Given the description of an element on the screen output the (x, y) to click on. 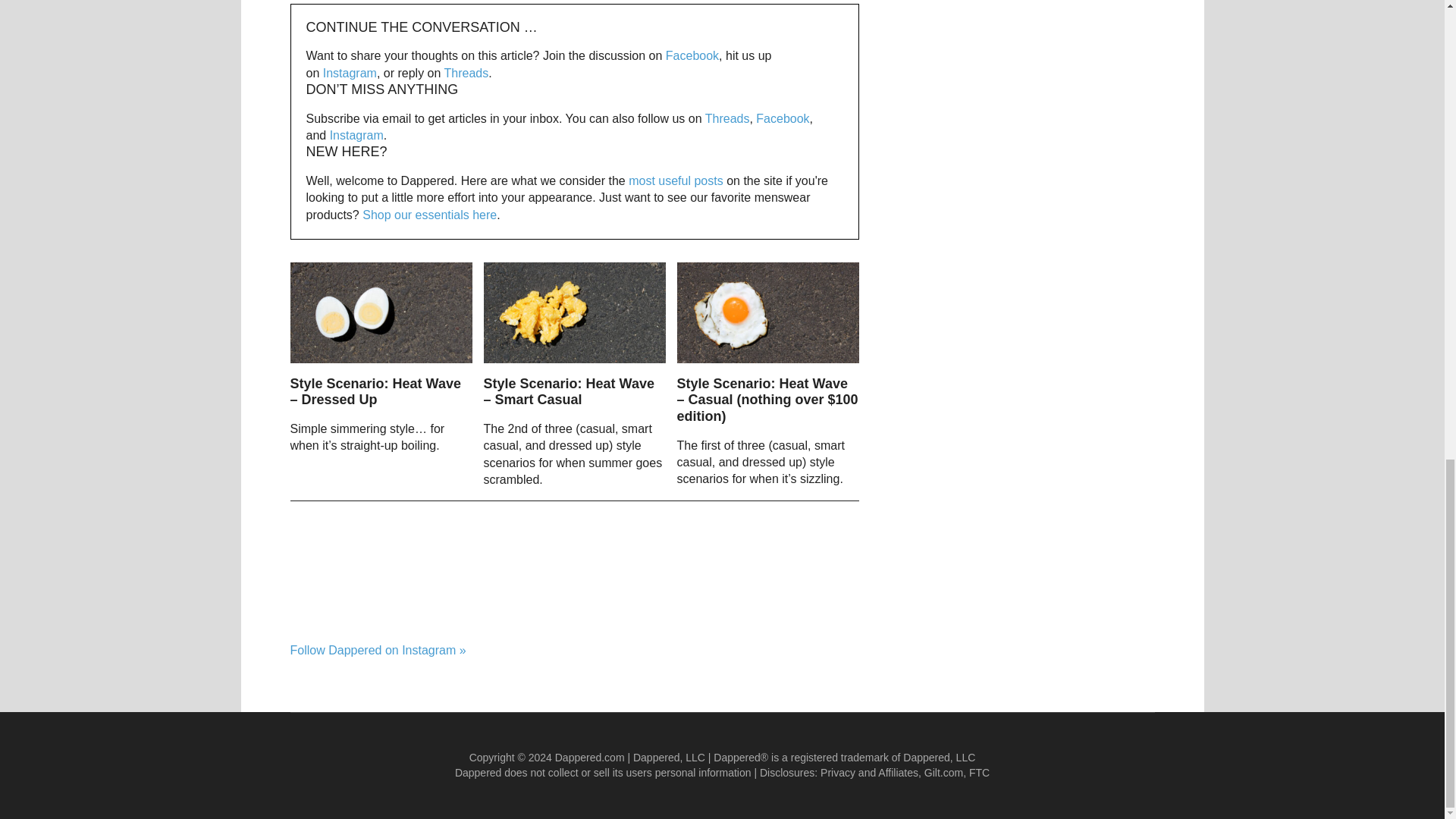
most useful posts (675, 180)
Privacy and Affiliate Disclosure (869, 772)
Facebook (692, 55)
Dappered FTC Disclosures (979, 772)
Facebook (782, 118)
Instagram (357, 134)
Shop our essentials here (429, 214)
Threads (466, 72)
Threads (726, 118)
Gilt Disclosure (943, 772)
Instagram (350, 72)
